Given the description of an element on the screen output the (x, y) to click on. 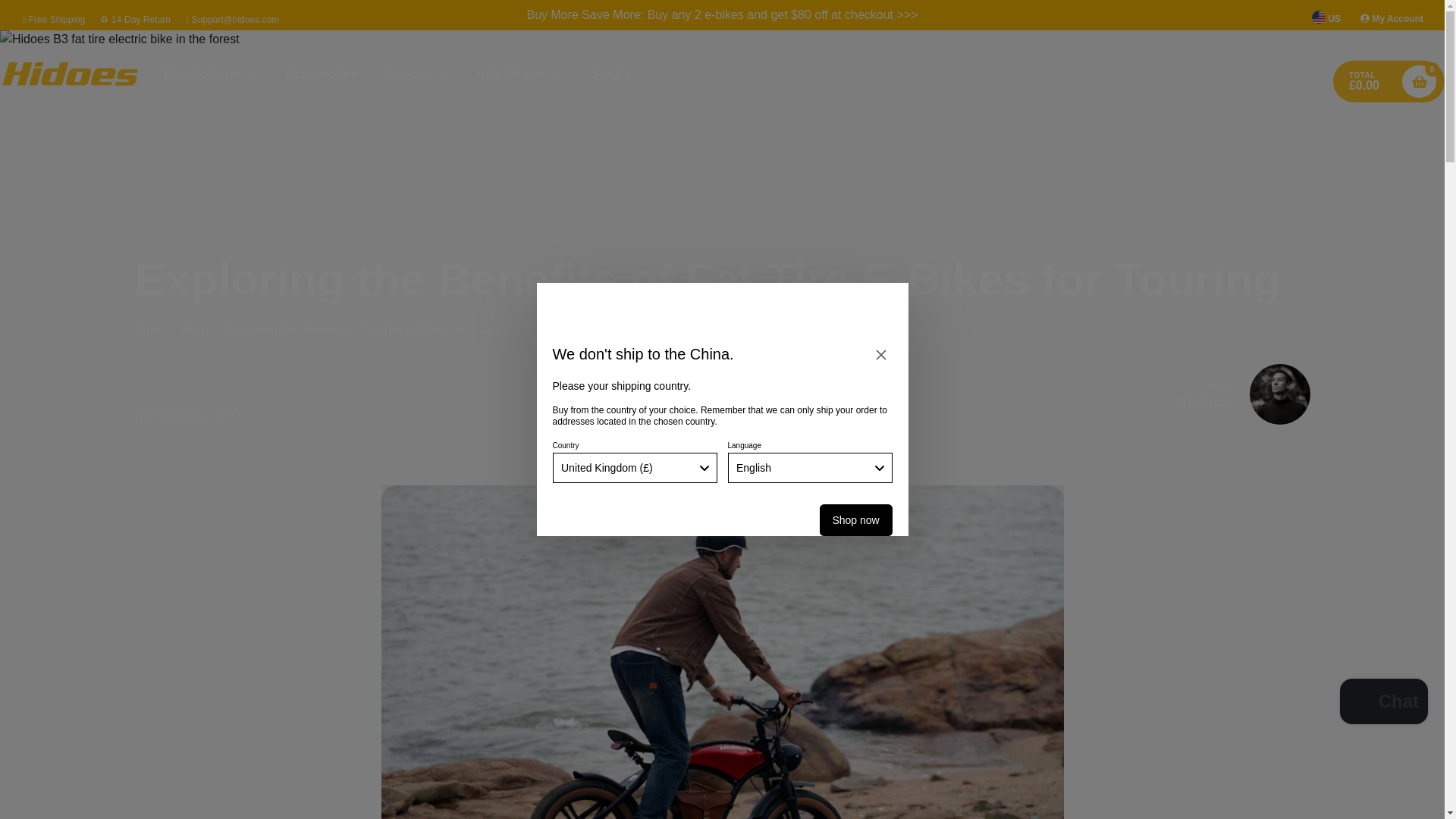
Support (416, 73)
Help Center (516, 73)
US (1326, 18)
Electric Bikes (209, 73)
English (810, 467)
My Account (1391, 18)
Accessories (320, 73)
Shop now (855, 520)
